Given the description of an element on the screen output the (x, y) to click on. 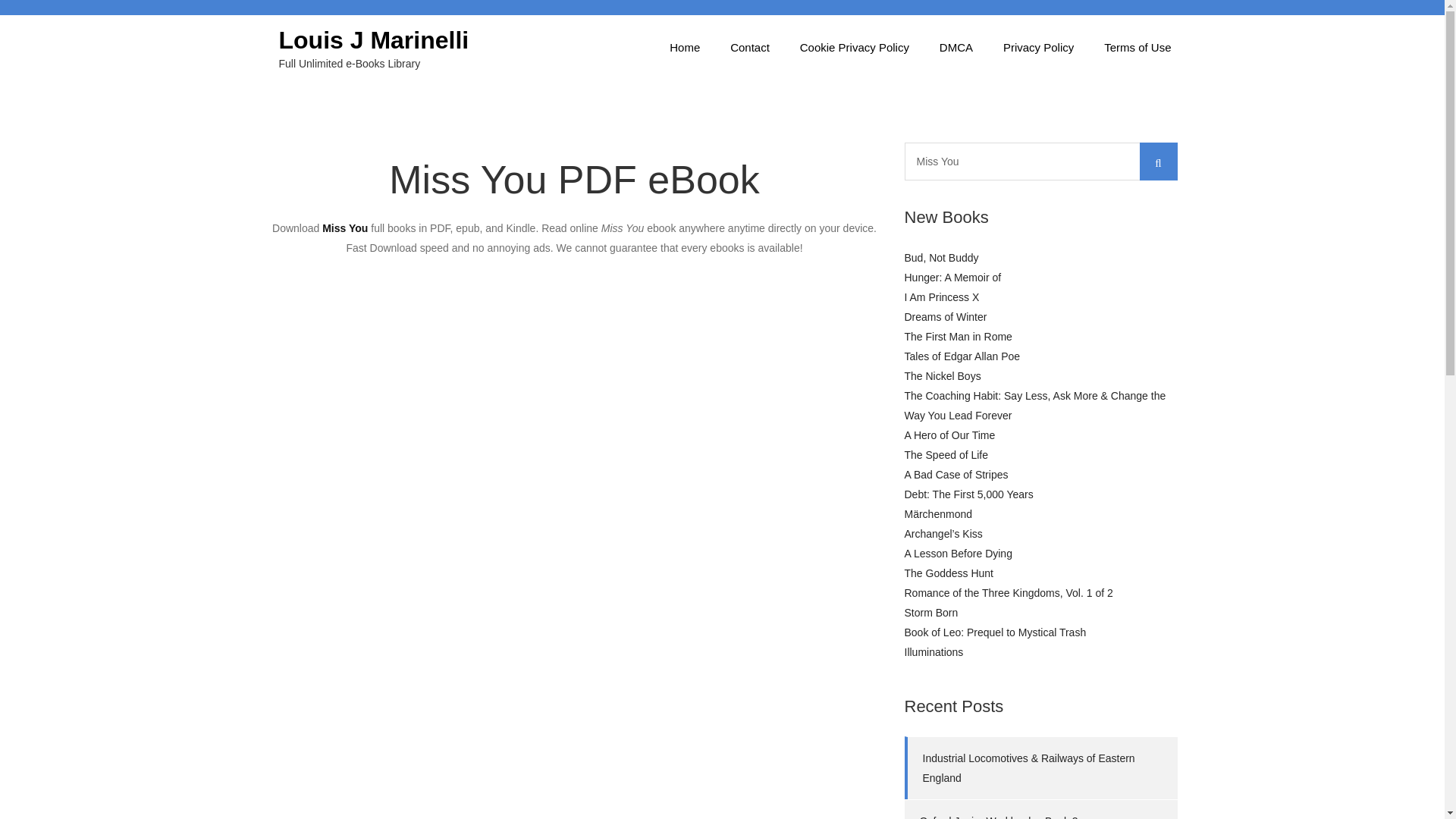
Book of Leo: Prequel to Mystical Trash (995, 632)
Miss You (1040, 161)
Miss You (1040, 161)
DMCA (956, 47)
Search for: (1040, 161)
A Bad Case of Stripes (955, 474)
Contact (749, 47)
Storm Born (931, 612)
The Goddess Hunt (948, 573)
A Hero of Our Time (949, 435)
